Given the description of an element on the screen output the (x, y) to click on. 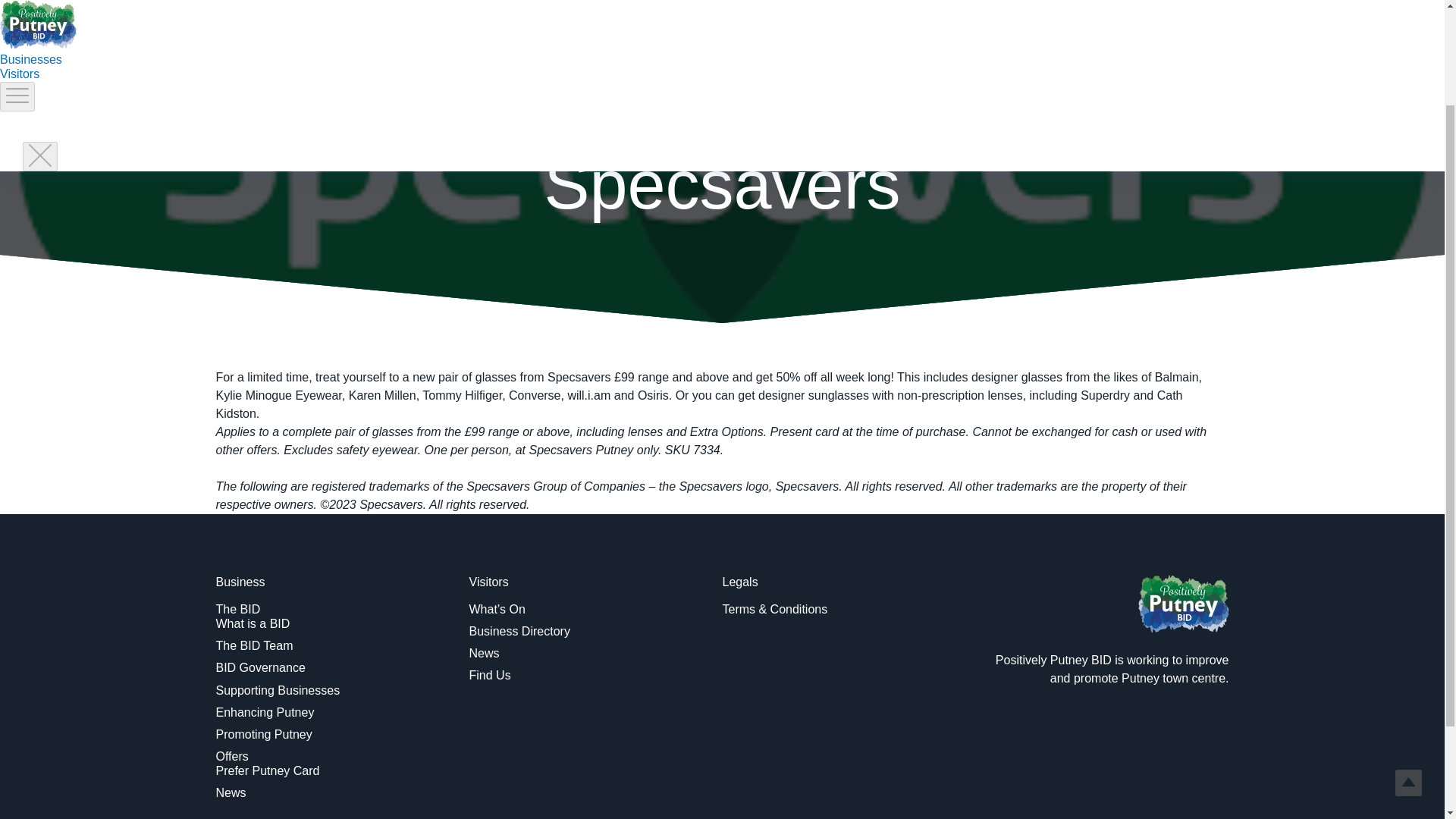
Prefer Putney Card (266, 770)
Find Us (489, 675)
What is a BID (252, 623)
BID Governance (259, 667)
Promoting Putney (263, 734)
News (483, 653)
Top (1408, 658)
Business Directory (518, 631)
Offers (231, 756)
News (230, 792)
Enhancing Putney (264, 712)
The BID Team (253, 645)
Scroll to Top (1408, 658)
Supporting Businesses (277, 689)
The BID (237, 608)
